Given the description of an element on the screen output the (x, y) to click on. 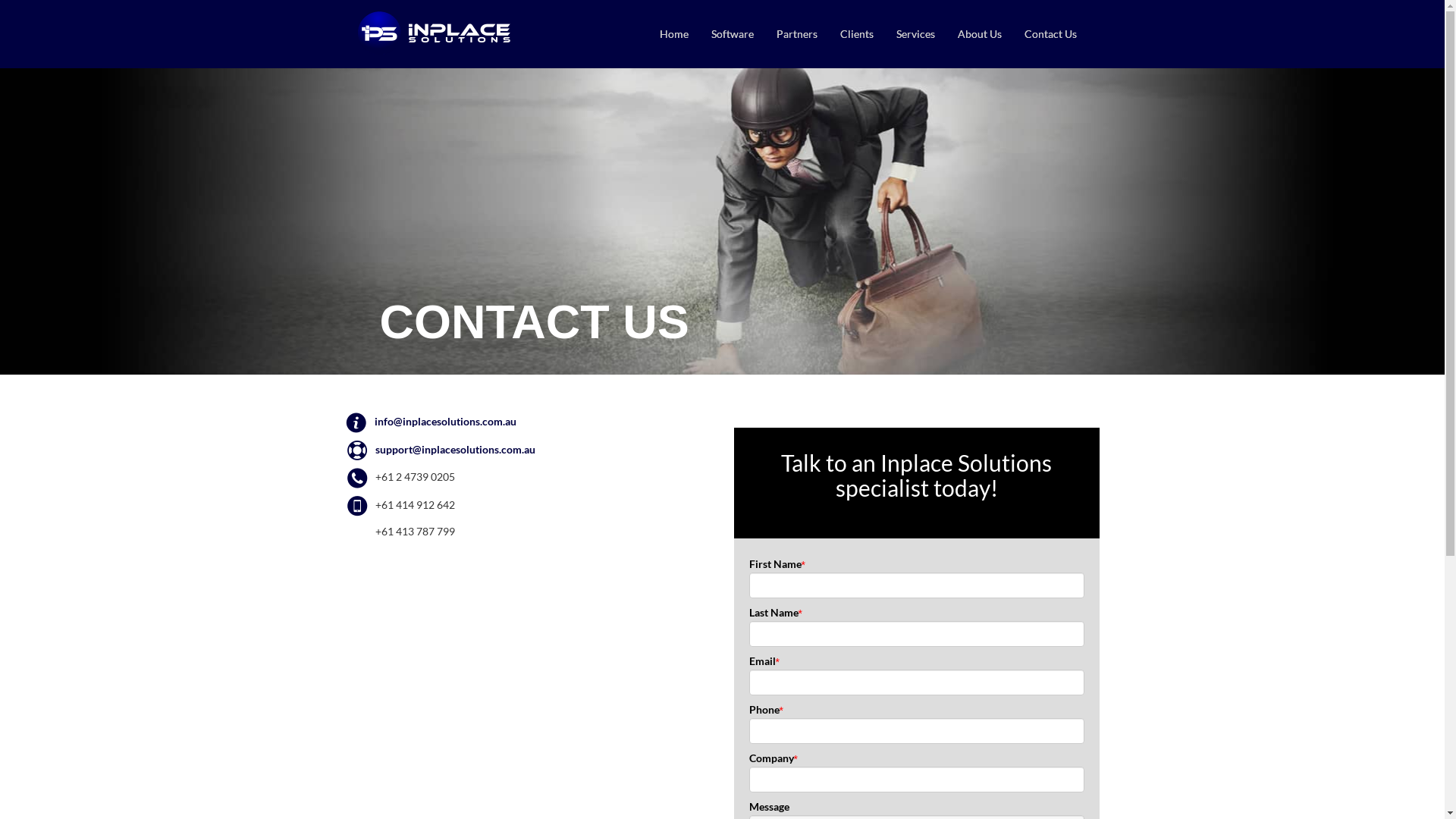
support@inplacesolutions.com.au Element type: text (454, 448)
Services Element type: text (914, 34)
Clients Element type: text (856, 34)
inPlaceSolutions Element type: hover (432, 33)
About Us Element type: text (979, 34)
Home Element type: text (673, 34)
info@inplacesolutions.com.au Element type: text (445, 420)
Contact Us Element type: text (1050, 34)
Partners Element type: text (796, 34)
Software Element type: text (731, 34)
